Given the description of an element on the screen output the (x, y) to click on. 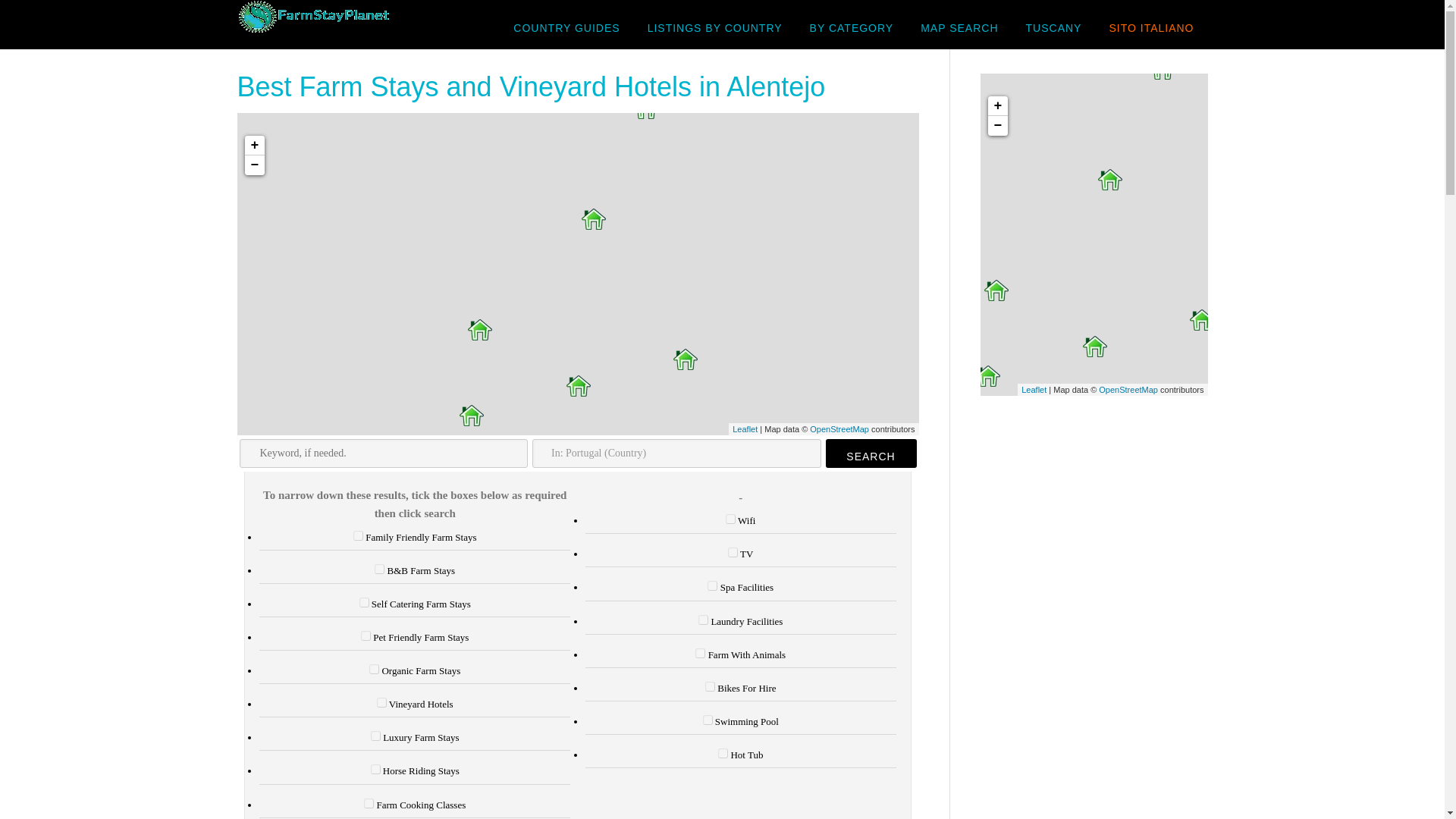
Bikes For Hire (709, 686)
Wifi (730, 519)
3276 (357, 535)
Spa Facilities (712, 585)
Zoom out (253, 165)
Quinta das Lavandas (645, 108)
197 (369, 803)
Herdade dos Grous (577, 385)
Laundry Facilities (702, 619)
7960 (375, 736)
A JS library for interactive maps (744, 429)
191 (373, 669)
194 (366, 635)
193 (364, 602)
Swimming Pool (708, 719)
